Given the description of an element on the screen output the (x, y) to click on. 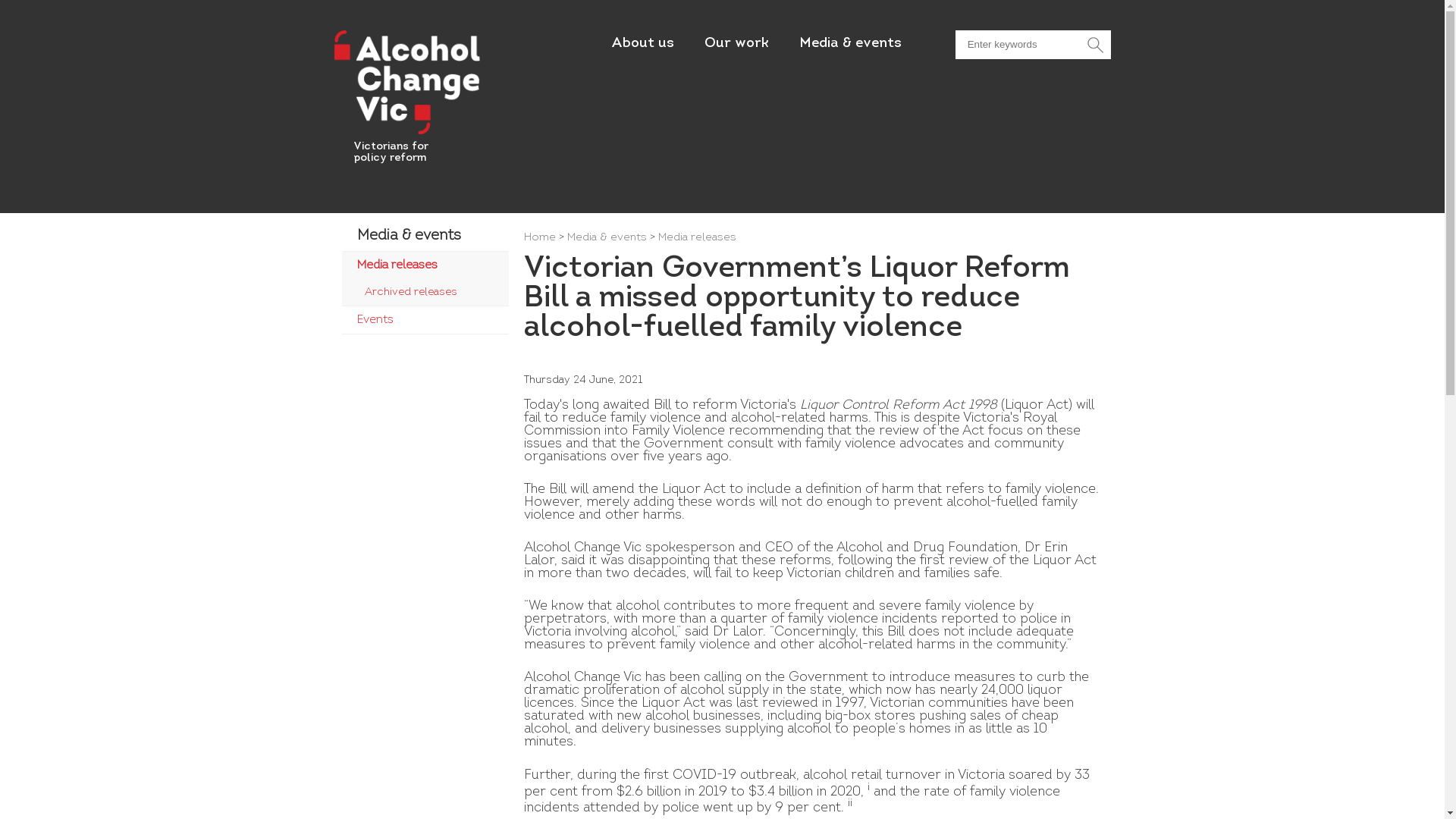
Media releases Element type: text (424, 265)
Search Element type: text (1094, 44)
Media & events Element type: text (424, 235)
Media & events Element type: text (606, 237)
Our work Element type: text (736, 43)
About us Element type: text (642, 43)
Victorians for
policy reform Element type: text (390, 152)
Archived releases Element type: text (424, 292)
Home Element type: text (539, 237)
Events Element type: text (424, 319)
Media & events Element type: text (850, 43)
Return to the home page Element type: hover (406, 132)
Media releases Element type: text (697, 237)
